Given the description of an element on the screen output the (x, y) to click on. 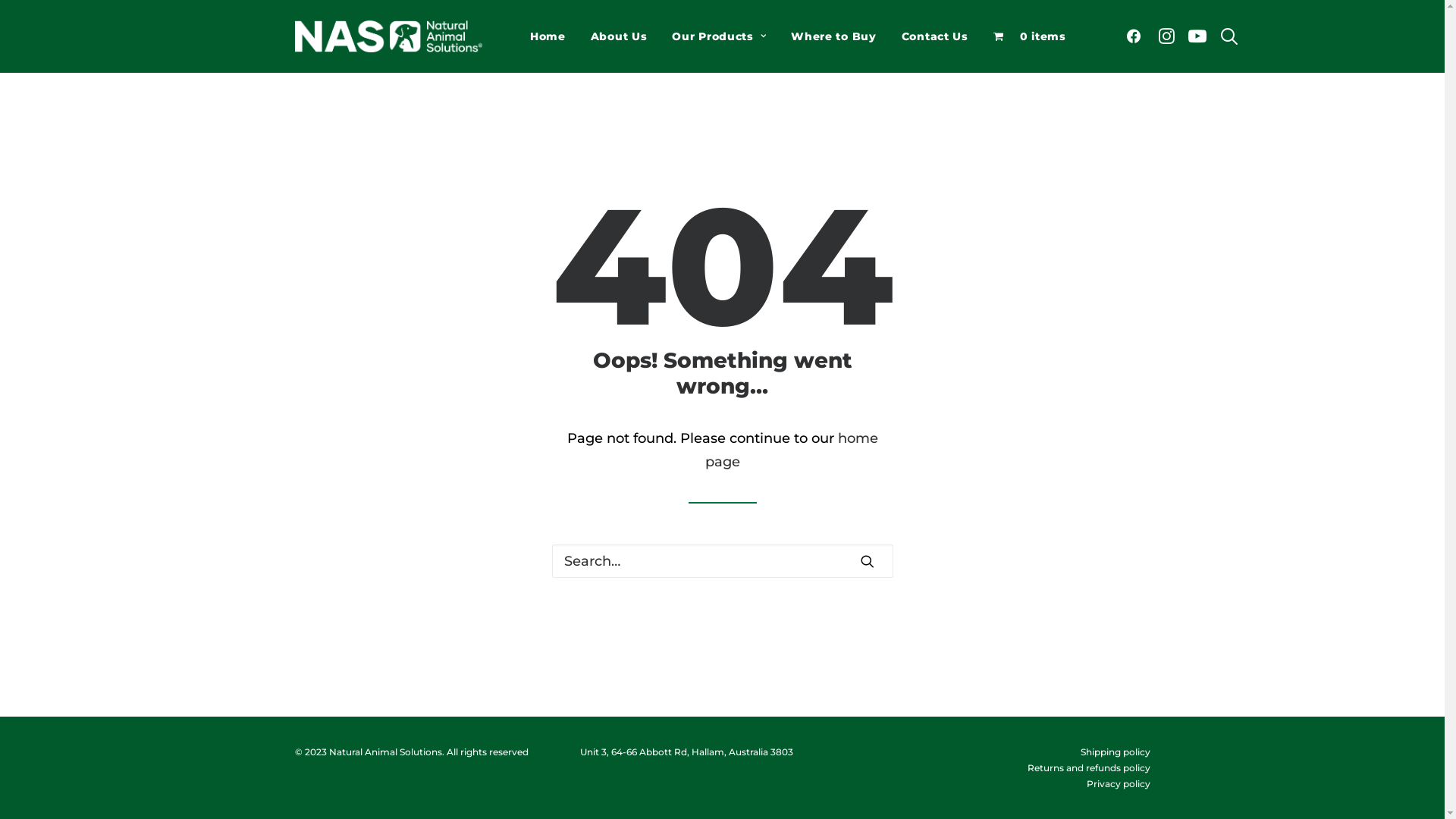
Shipping policy Element type: text (1114, 751)
0 items Element type: text (1029, 36)
Search for: Element type: hover (722, 560)
Returns and refunds policy Element type: text (1087, 767)
Our Products Element type: text (718, 36)
Contact Us Element type: text (935, 36)
Home Element type: text (547, 36)
home page Element type: text (791, 449)
Where to Buy Element type: text (833, 36)
About Us Element type: text (619, 36)
Privacy policy Element type: text (1117, 783)
